Given the description of an element on the screen output the (x, y) to click on. 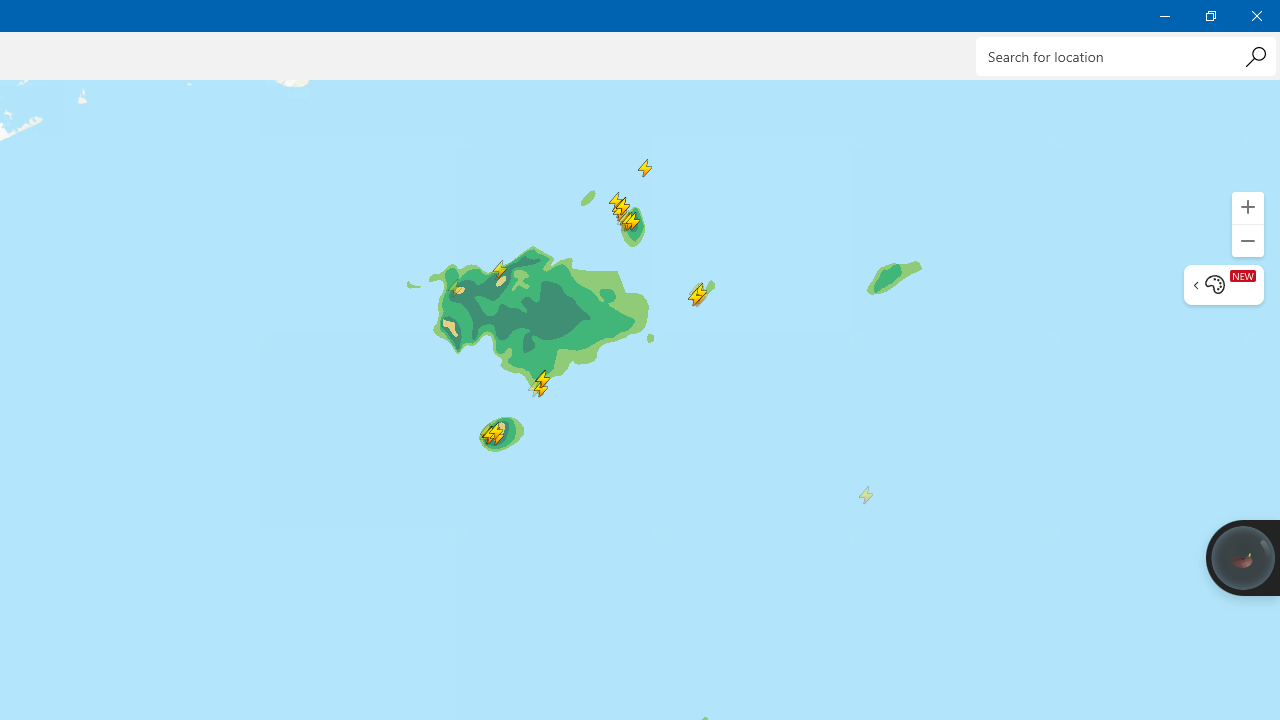
Search for location (1125, 56)
Search (1255, 56)
Restore Weather (1210, 15)
Close Weather (1256, 15)
Minimize Weather (1164, 15)
